Given the description of an element on the screen output the (x, y) to click on. 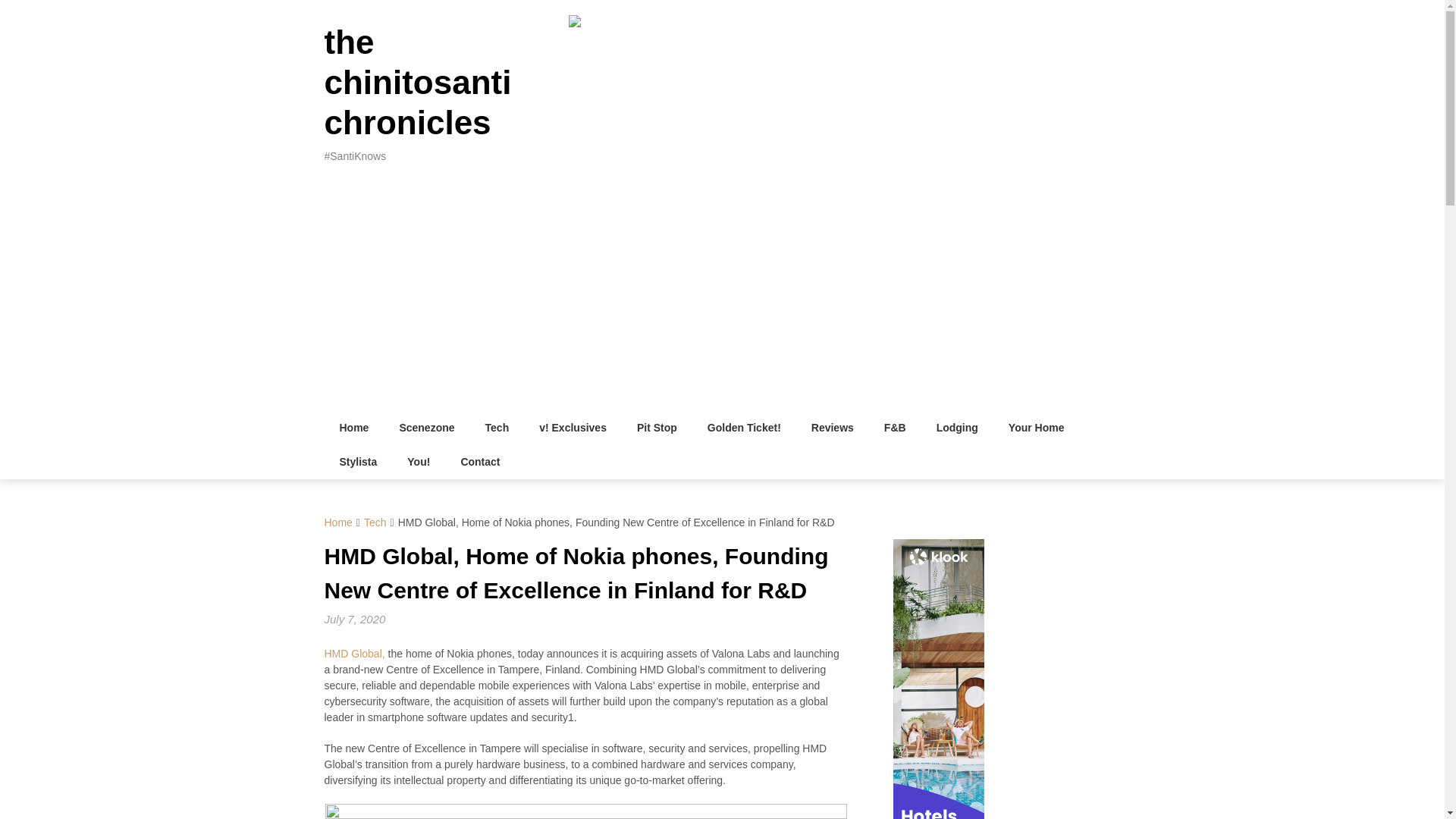
Tech (375, 522)
Scenezone (426, 428)
the chinitosanti chronicles (418, 81)
Lodging (956, 428)
Golden Ticket! (744, 428)
Tech (497, 428)
Home (338, 522)
You! (418, 462)
Home (354, 428)
Your Home (1036, 428)
